Given the description of an element on the screen output the (x, y) to click on. 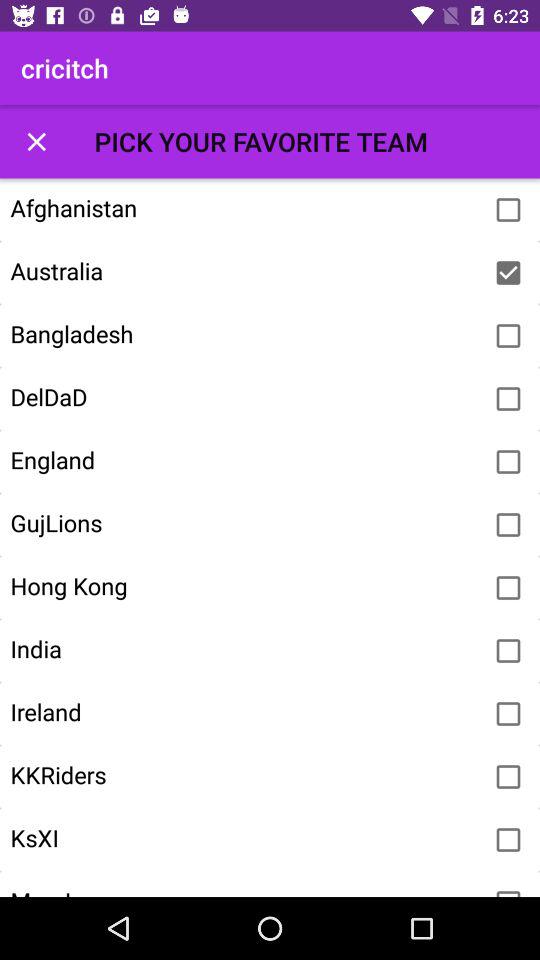
click to select (508, 588)
